Given the description of an element on the screen output the (x, y) to click on. 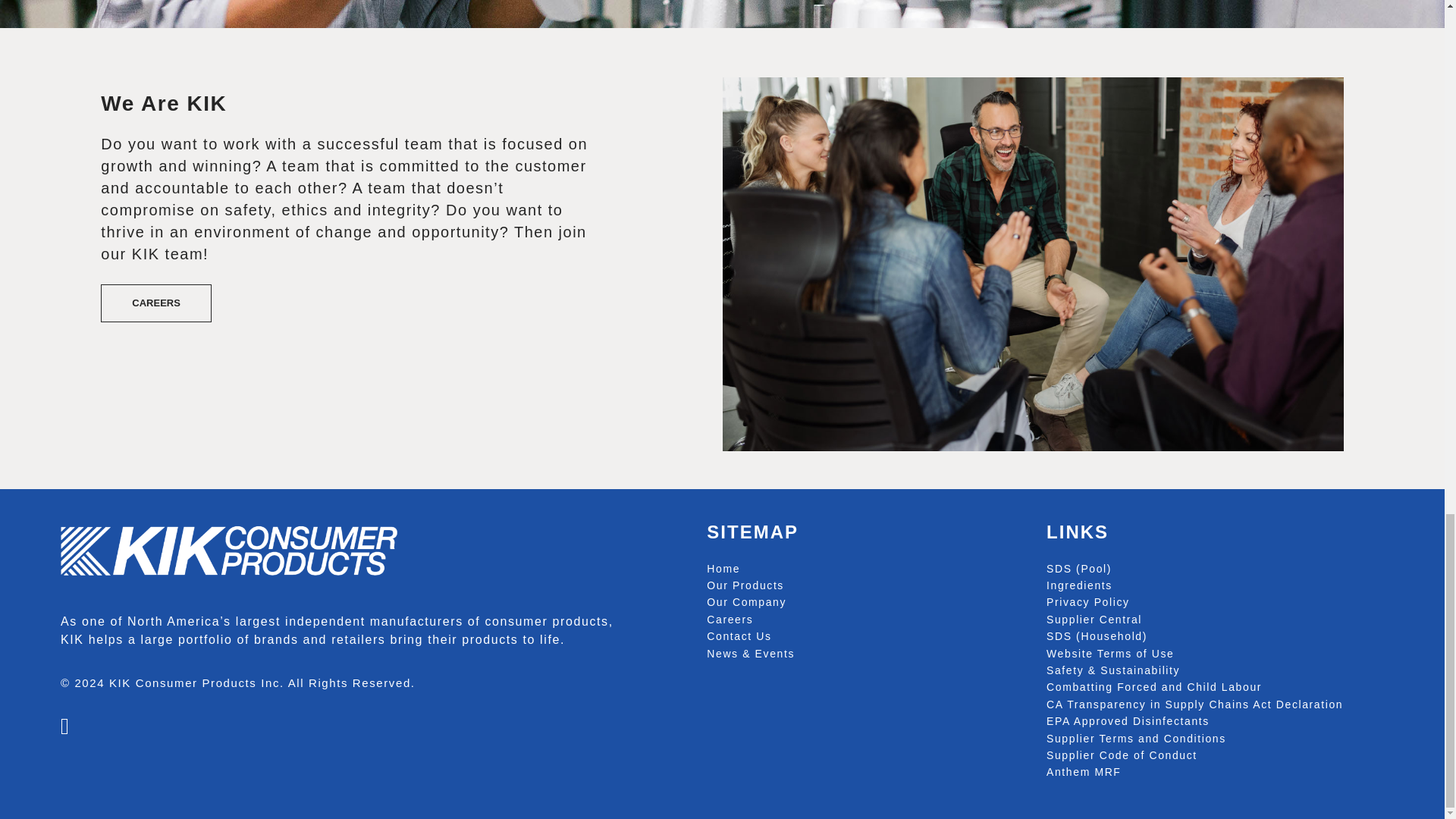
Contact Us (738, 635)
Our Company (746, 602)
Careers (729, 619)
Supplier Central (1093, 619)
CAREERS (155, 303)
Home (722, 568)
Our Products (745, 585)
Ingredients (1079, 585)
Privacy Policy (1087, 602)
